Given the description of an element on the screen output the (x, y) to click on. 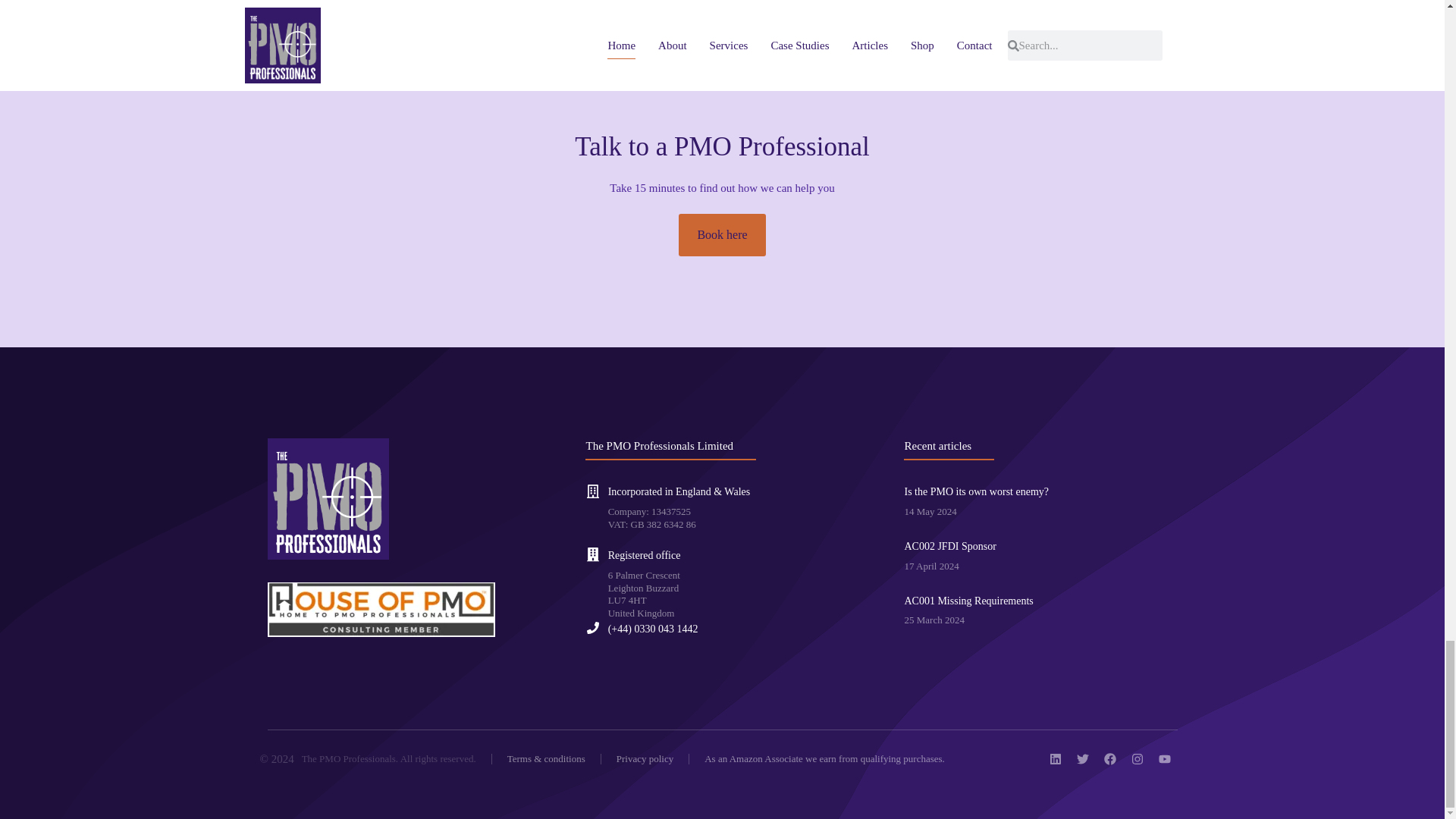
Is the PMO its own worst enemy? (976, 492)
AC001 Missing Requirements (968, 601)
Book here (721, 234)
AC002 JFDI Sponsor (949, 546)
